Given the description of an element on the screen output the (x, y) to click on. 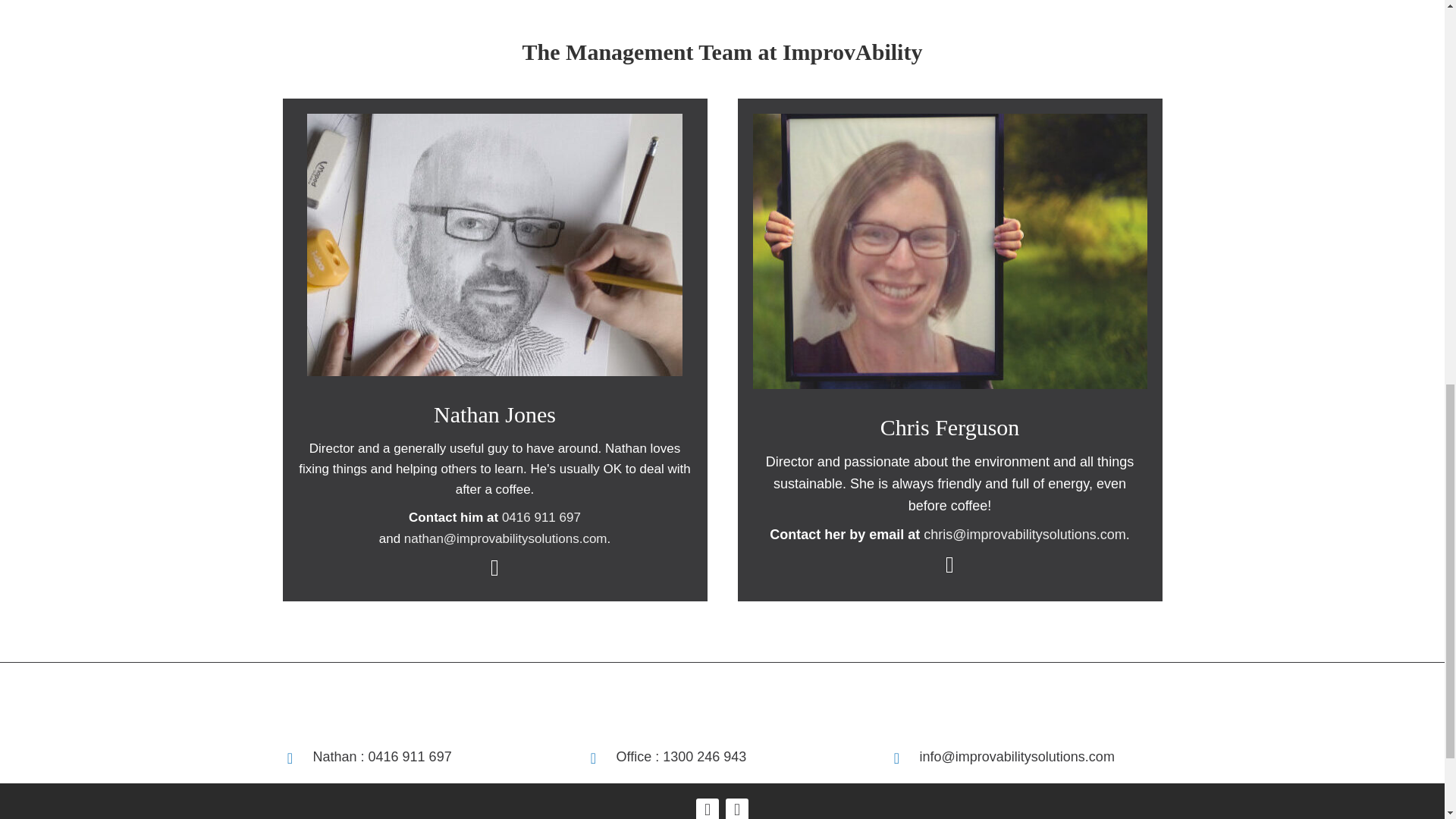
Nathan (494, 244)
1300 246 943 (703, 756)
0416 911 697 (541, 517)
Chris (949, 251)
0416 911 697 (409, 756)
